Given the description of an element on the screen output the (x, y) to click on. 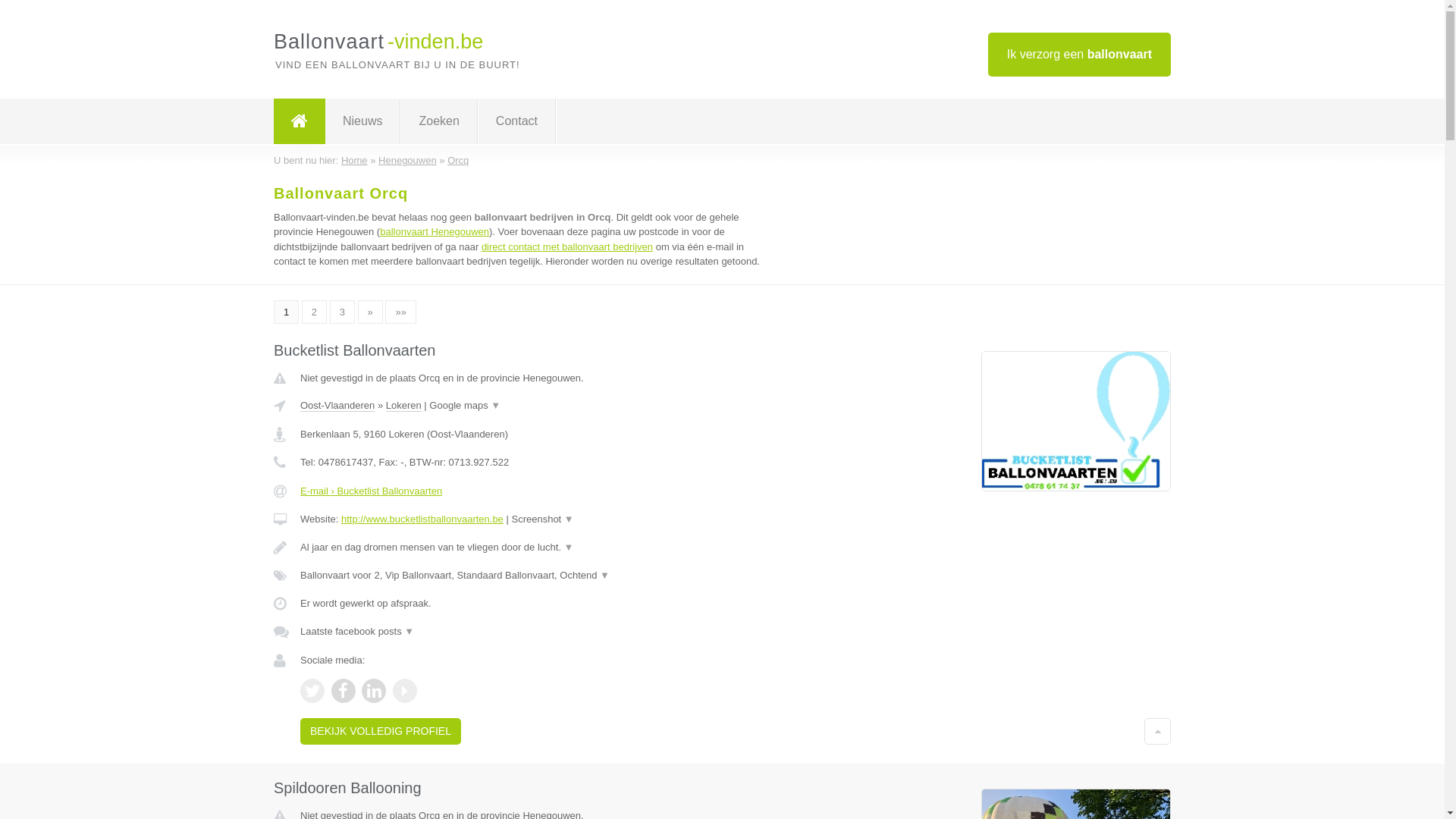
Ik verzorg een ballonvaart Element type: text (1079, 54)
Contact Element type: text (516, 121)
Ballonvaart-vinden.be Element type: text (378, 41)
ballonvaart Henegouwen Element type: text (434, 231)
Oost-Vlaanderen Element type: text (337, 405)
Ga naar de boven Element type: hover (1157, 730)
Home Element type: text (354, 160)
Ballonvaart Element type: hover (299, 121)
direct contact met ballonvaart bedrijven Element type: text (566, 246)
http://www.bucketlistballonvaarten.be Element type: text (422, 518)
Orcq Element type: text (457, 160)
Henegouwen Element type: text (407, 160)
Lokeren Element type: text (403, 405)
BEKIJK VOLLEDIG PROFIEL Element type: text (380, 730)
3 Element type: text (341, 311)
2 Element type: text (313, 311)
1 Element type: text (285, 311)
Zoeken Element type: text (438, 121)
Nieuws Element type: text (362, 121)
Spildooren Ballooning Element type: text (347, 787)
Bucketlist Ballonvaarten Element type: text (354, 350)
